Given the description of an element on the screen output the (x, y) to click on. 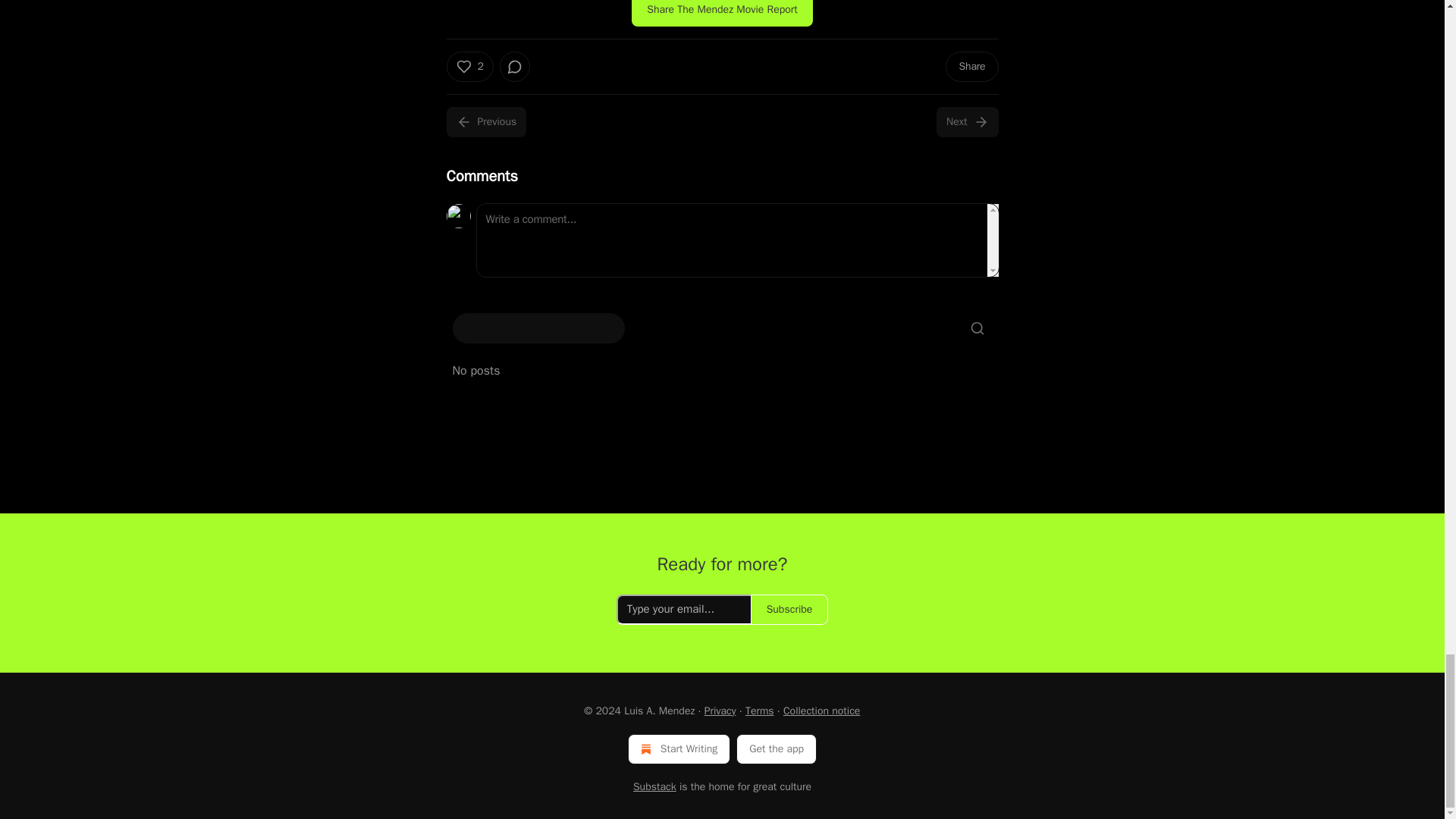
Share (970, 66)
2 (469, 66)
Next (966, 122)
Share The Mendez Movie Report (721, 13)
Top (471, 328)
Previous (485, 122)
